Given the description of an element on the screen output the (x, y) to click on. 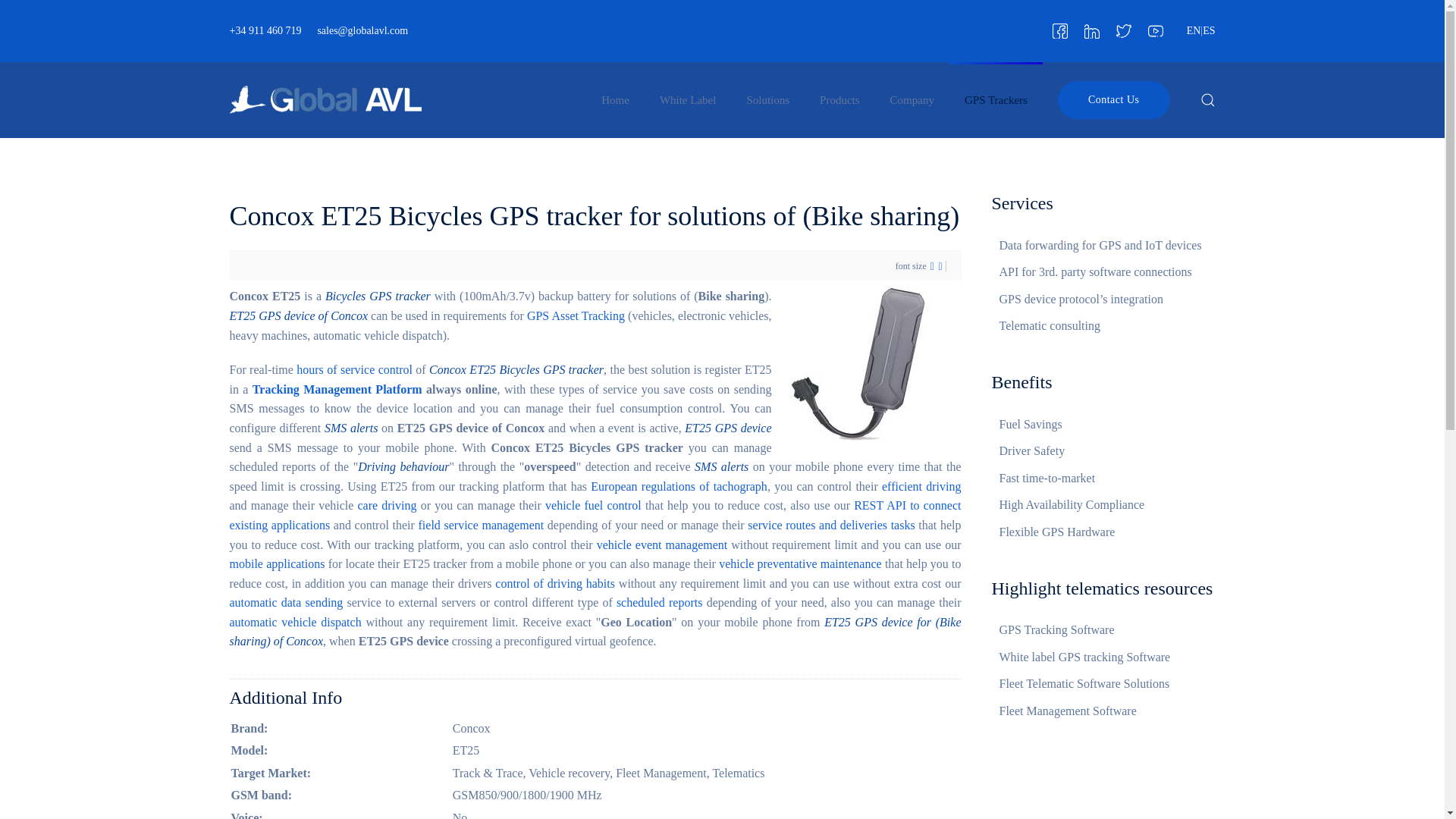
Linkedin (1091, 30)
ES (1208, 30)
White Label (688, 100)
Products (840, 100)
Twitter (1123, 30)
EN (1193, 30)
Facebook (1059, 30)
Youtube (1155, 30)
Company (912, 100)
Solutions (767, 100)
